Given the description of an element on the screen output the (x, y) to click on. 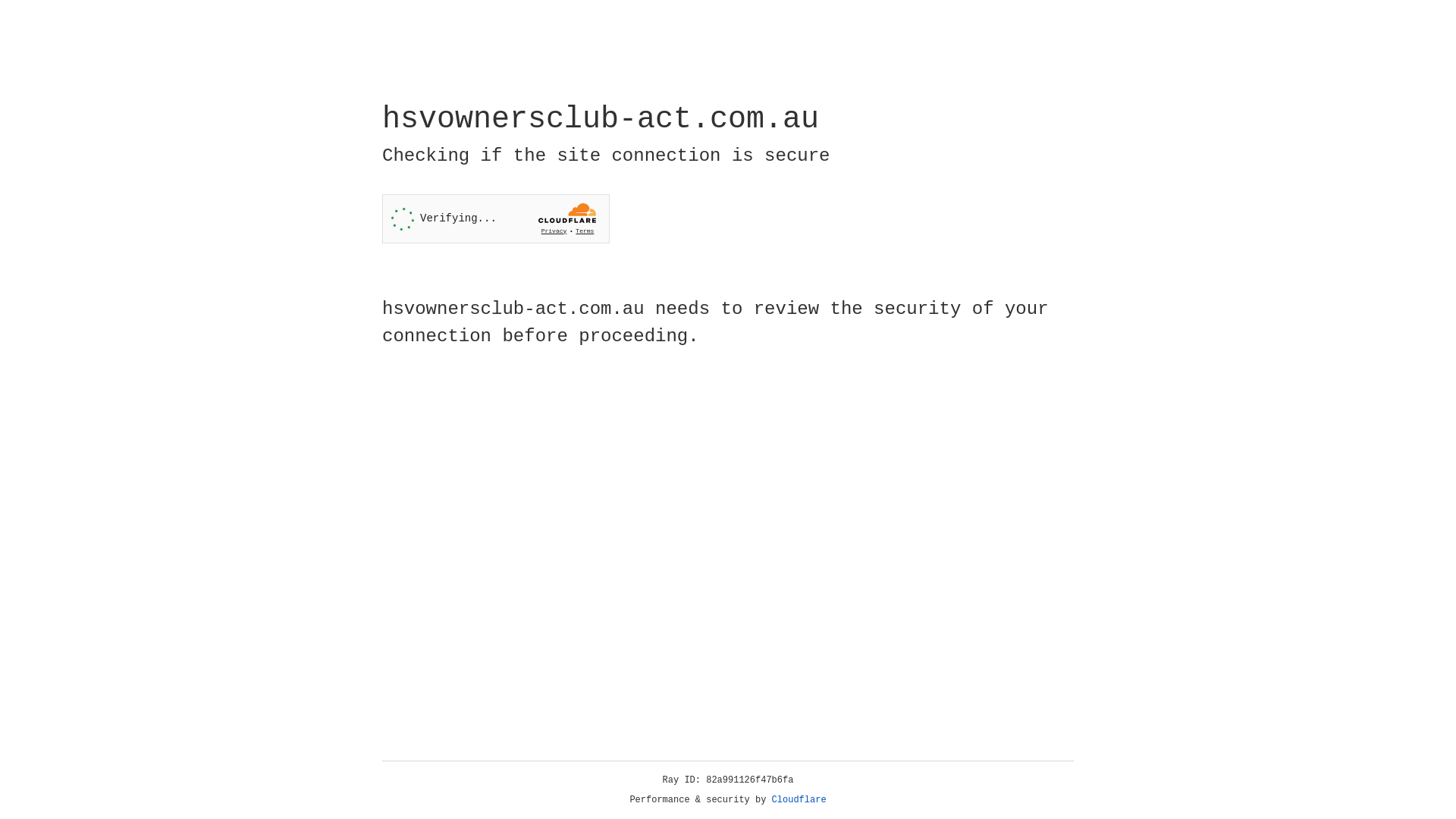
Widget containing a Cloudflare security challenge Element type: hover (495, 218)
Cloudflare Element type: text (798, 799)
